Given the description of an element on the screen output the (x, y) to click on. 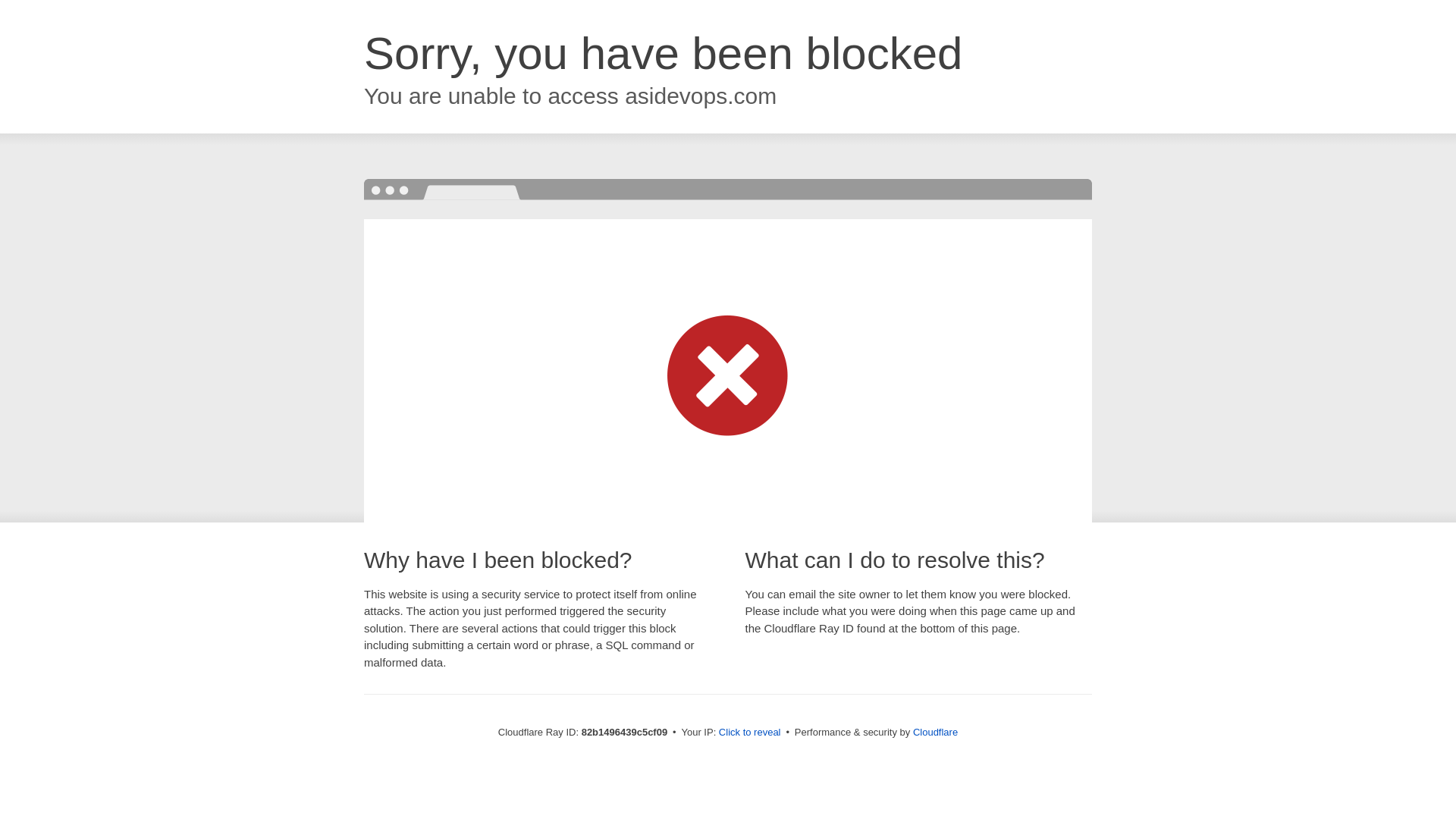
Click to reveal Element type: text (749, 732)
Cloudflare Element type: text (935, 731)
